Given the description of an element on the screen output the (x, y) to click on. 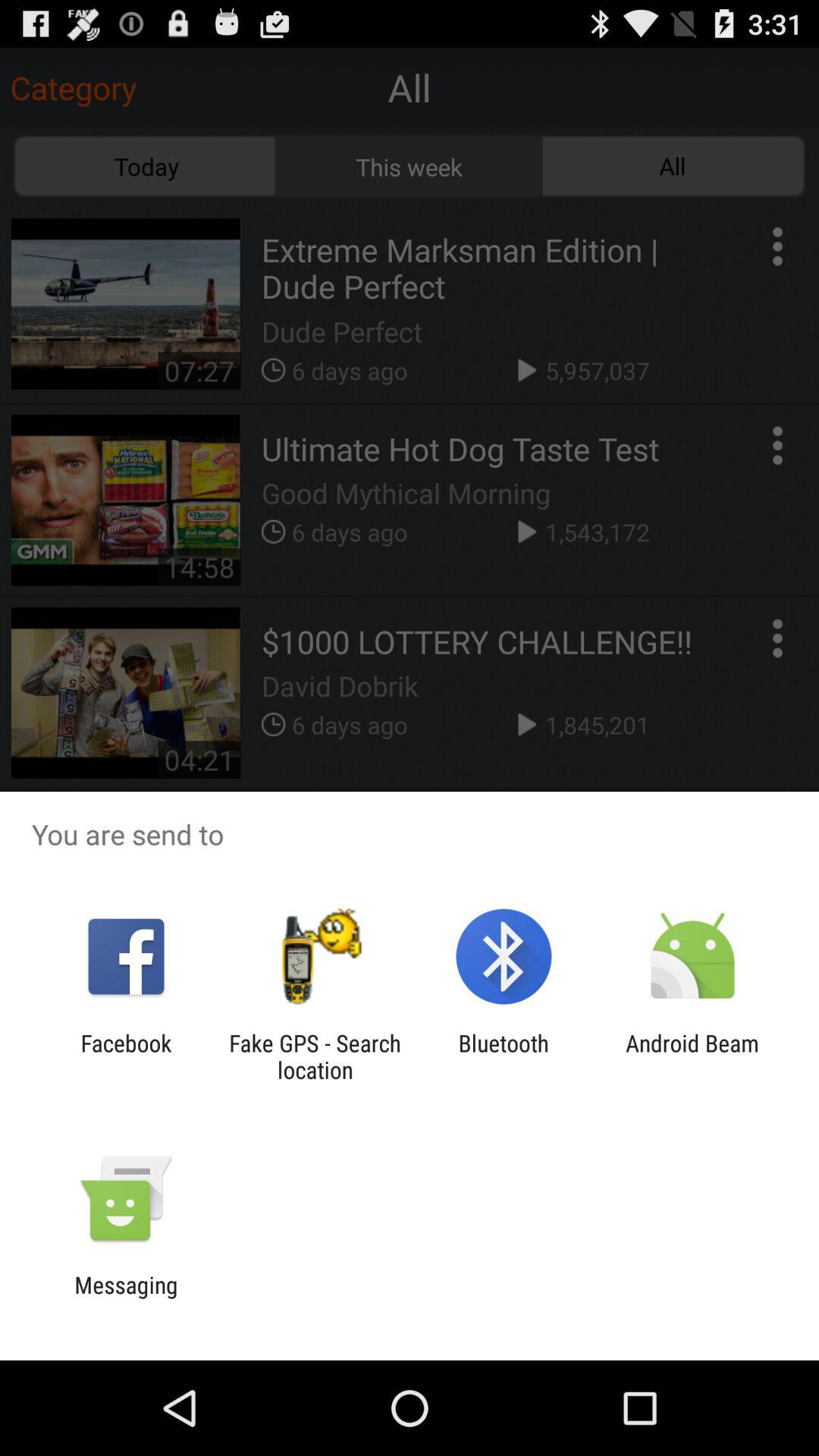
jump to the bluetooth item (503, 1056)
